Given the description of an element on the screen output the (x, y) to click on. 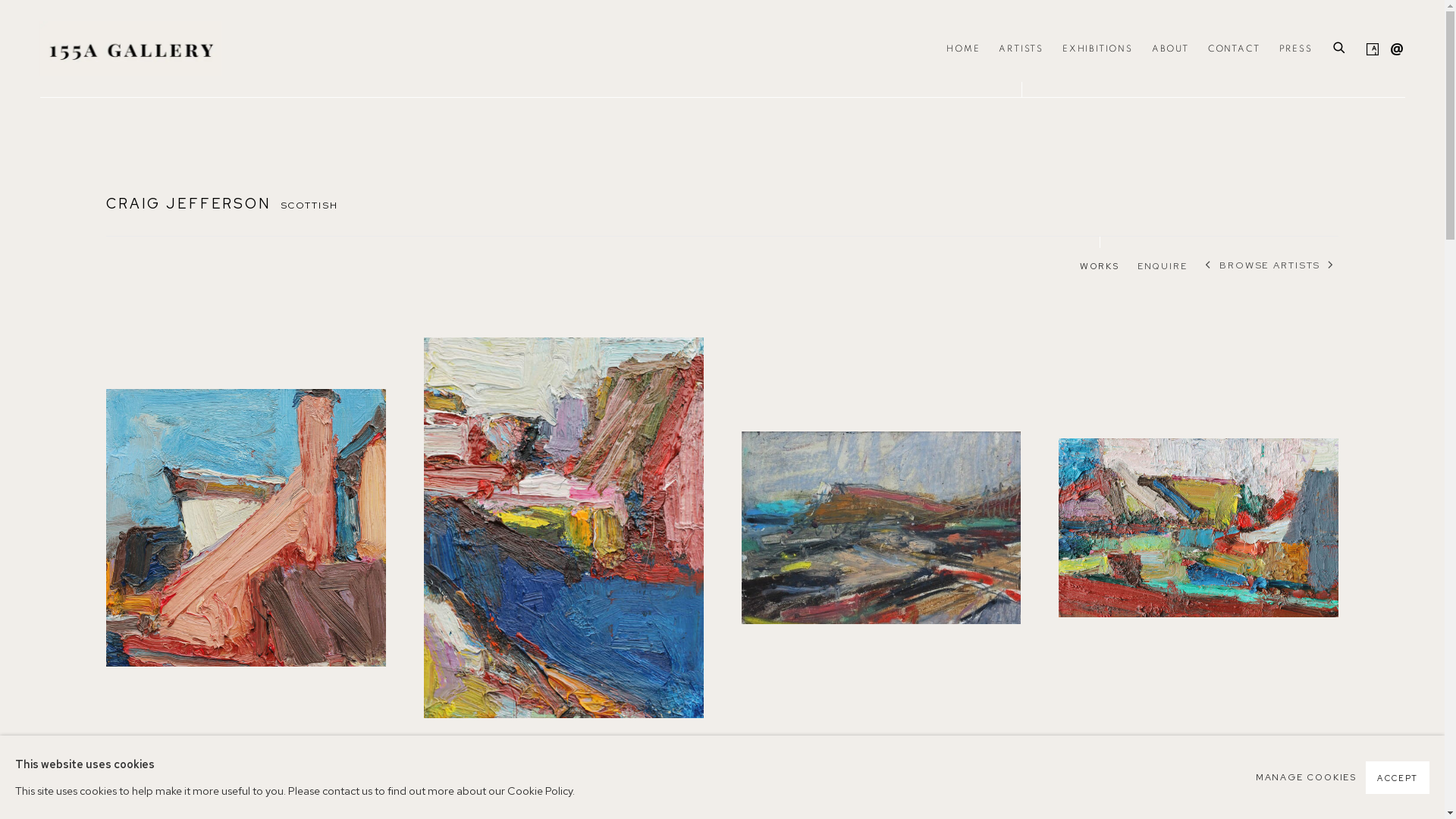
ACCEPT Element type: text (1397, 777)
PRESS Element type: text (1294, 48)
MANAGE COOKIES Element type: text (1305, 777)
Go Element type: text (9, 6)
WORKS Element type: text (1099, 267)
EXHIBITIONS Element type: text (1097, 48)
Send an email Element type: text (1392, 45)
Artsy
, opens in a new tab. Element type: text (1367, 45)
ARTISTS Element type: text (1020, 48)
CONTACT Element type: text (1234, 48)
ABOUT Element type: text (1170, 48)
ENQUIRE Element type: text (1162, 267)
NEXT ARTIST Element type: text (1331, 265)
PREVIOUS ARTIST Element type: text (1208, 265)
HOME Element type: text (962, 48)
155A GALLERY Element type: text (130, 48)
